Given the description of an element on the screen output the (x, y) to click on. 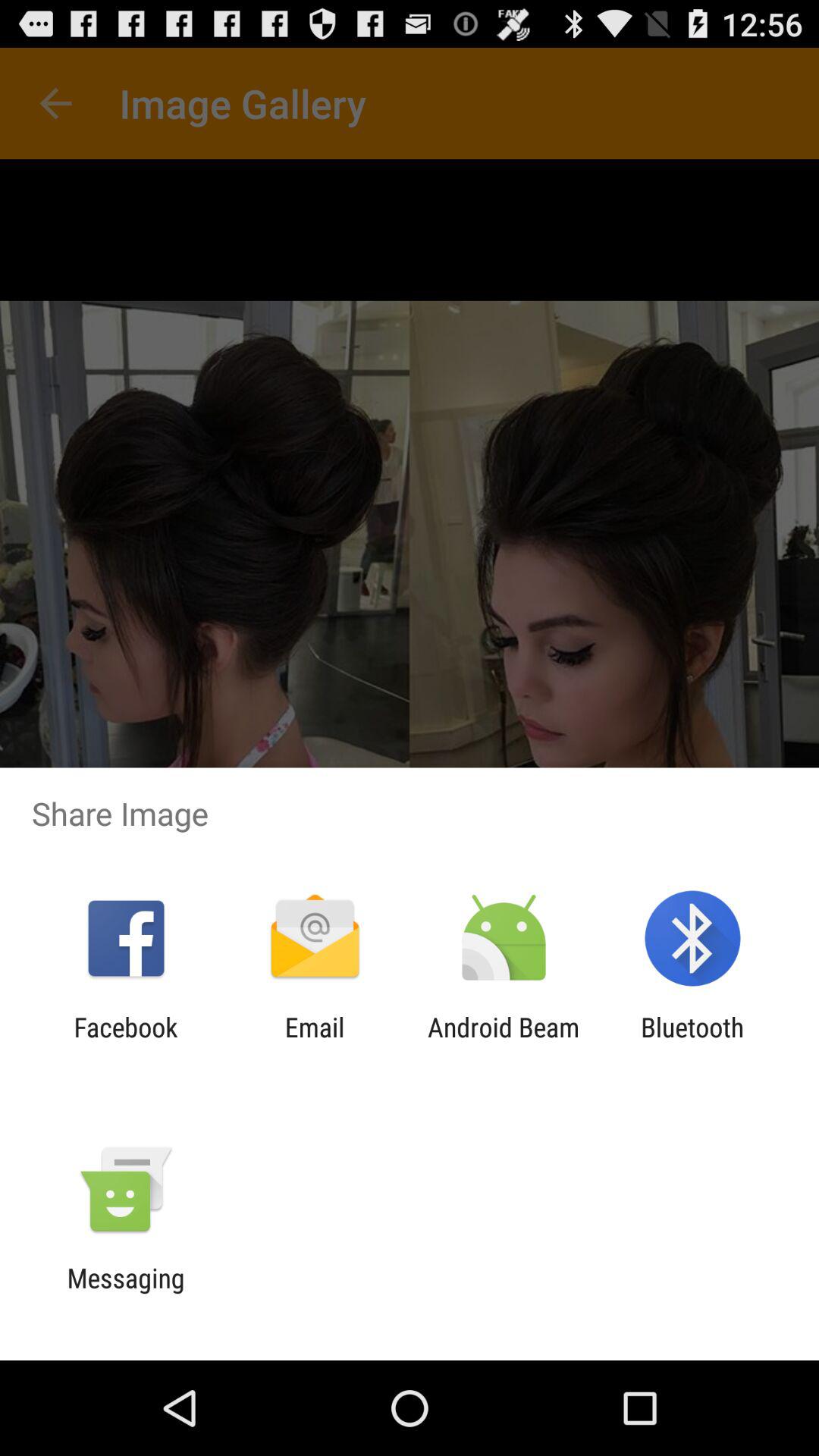
launch app next to the android beam app (314, 1042)
